Given the description of an element on the screen output the (x, y) to click on. 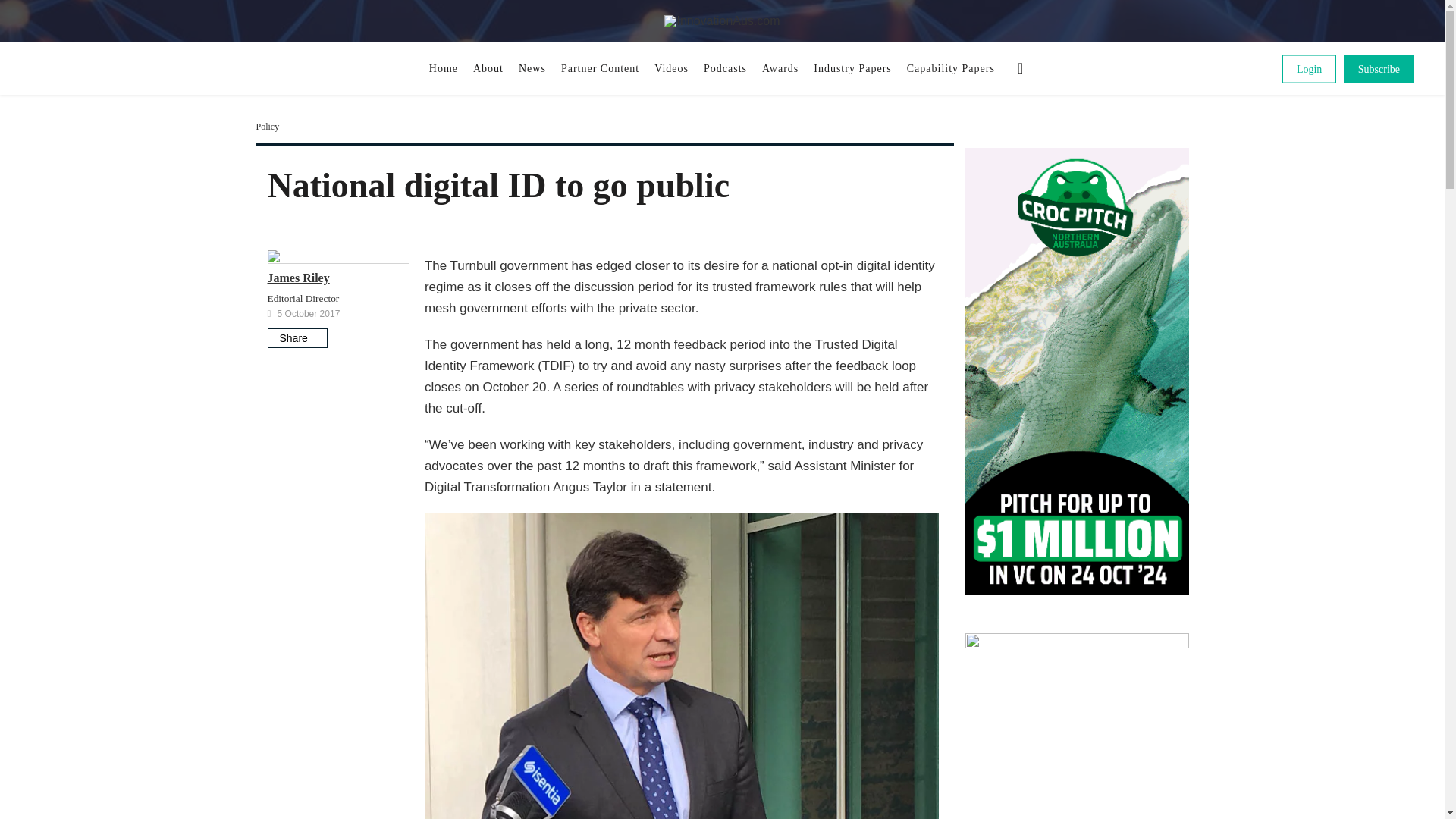
Capability Papers (951, 68)
Industry Papers (852, 68)
Subscribe (1378, 68)
Podcasts (724, 68)
Share (296, 338)
Awards (780, 68)
policy (267, 126)
Partner Content (599, 68)
James Riley (297, 277)
Videos (670, 68)
